Given the description of an element on the screen output the (x, y) to click on. 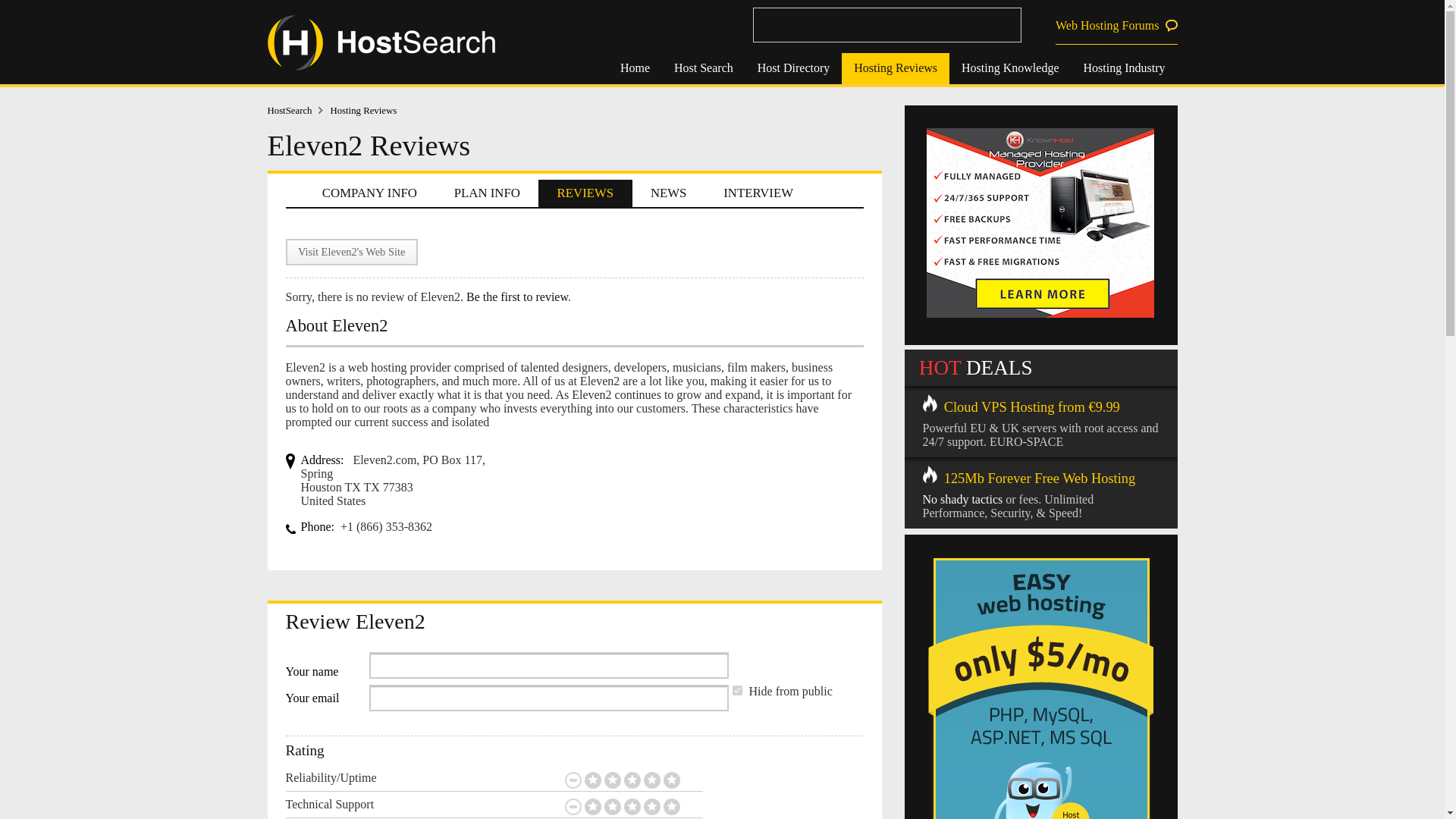
REVIEWS (584, 193)
OK (631, 780)
Hosting Reviews (363, 111)
Bad (612, 806)
Good (651, 780)
Worst (591, 806)
Bad (612, 780)
INTERVIEW (758, 193)
Hosting Industry (1123, 68)
Home (635, 68)
Web Hosting Forums (1116, 26)
1 (737, 690)
Best (670, 780)
Host Search (703, 68)
HostSearch (298, 111)
